Given the description of an element on the screen output the (x, y) to click on. 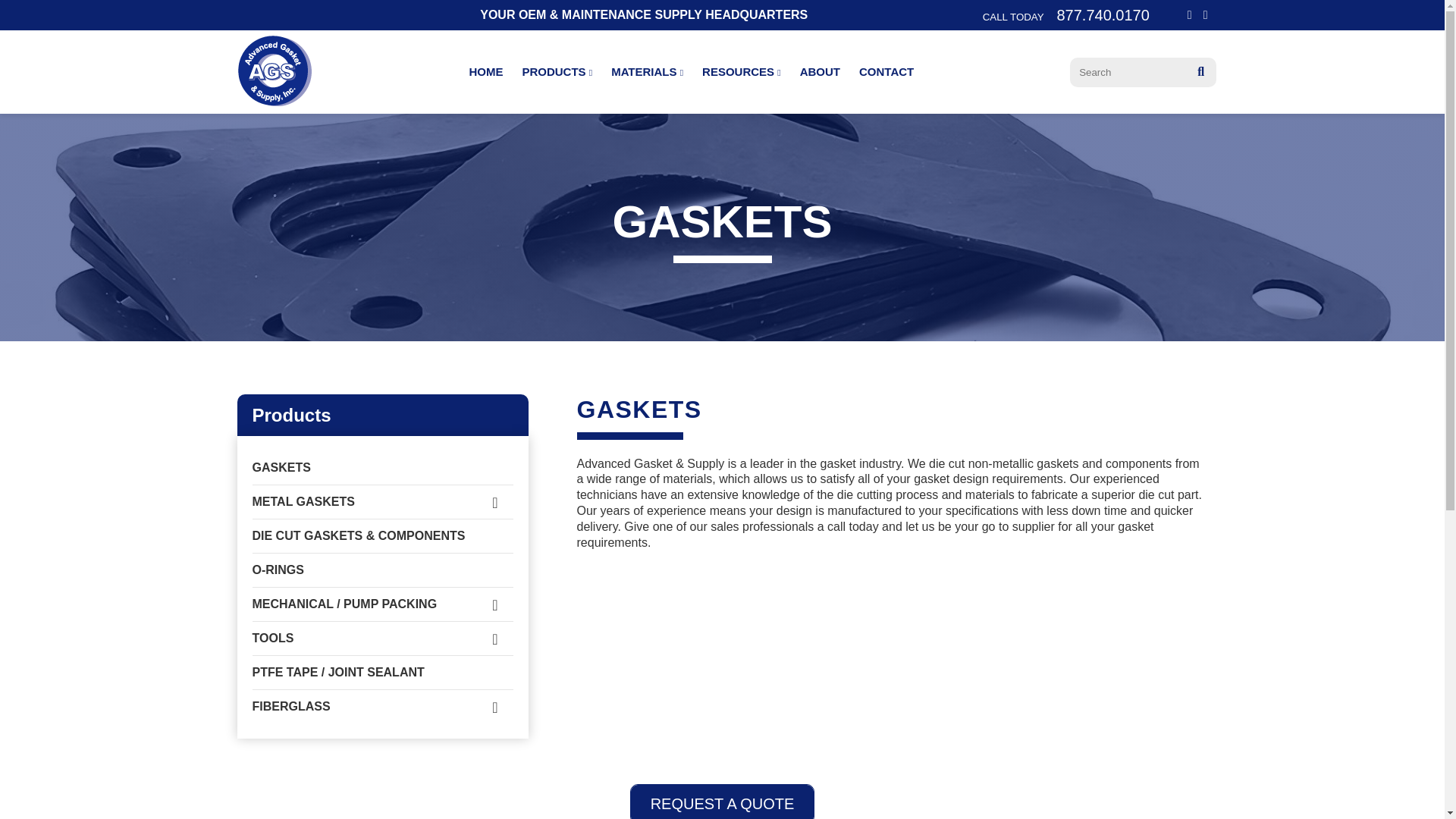
HOME (485, 71)
TOOLS (381, 638)
ABOUT (819, 71)
CONTACT (886, 71)
PRODUCTS (556, 71)
O-RINGS (381, 570)
MATERIALS (646, 71)
METAL GASKETS (381, 501)
RESOURCES (740, 71)
GASKETS (381, 467)
